Given the description of an element on the screen output the (x, y) to click on. 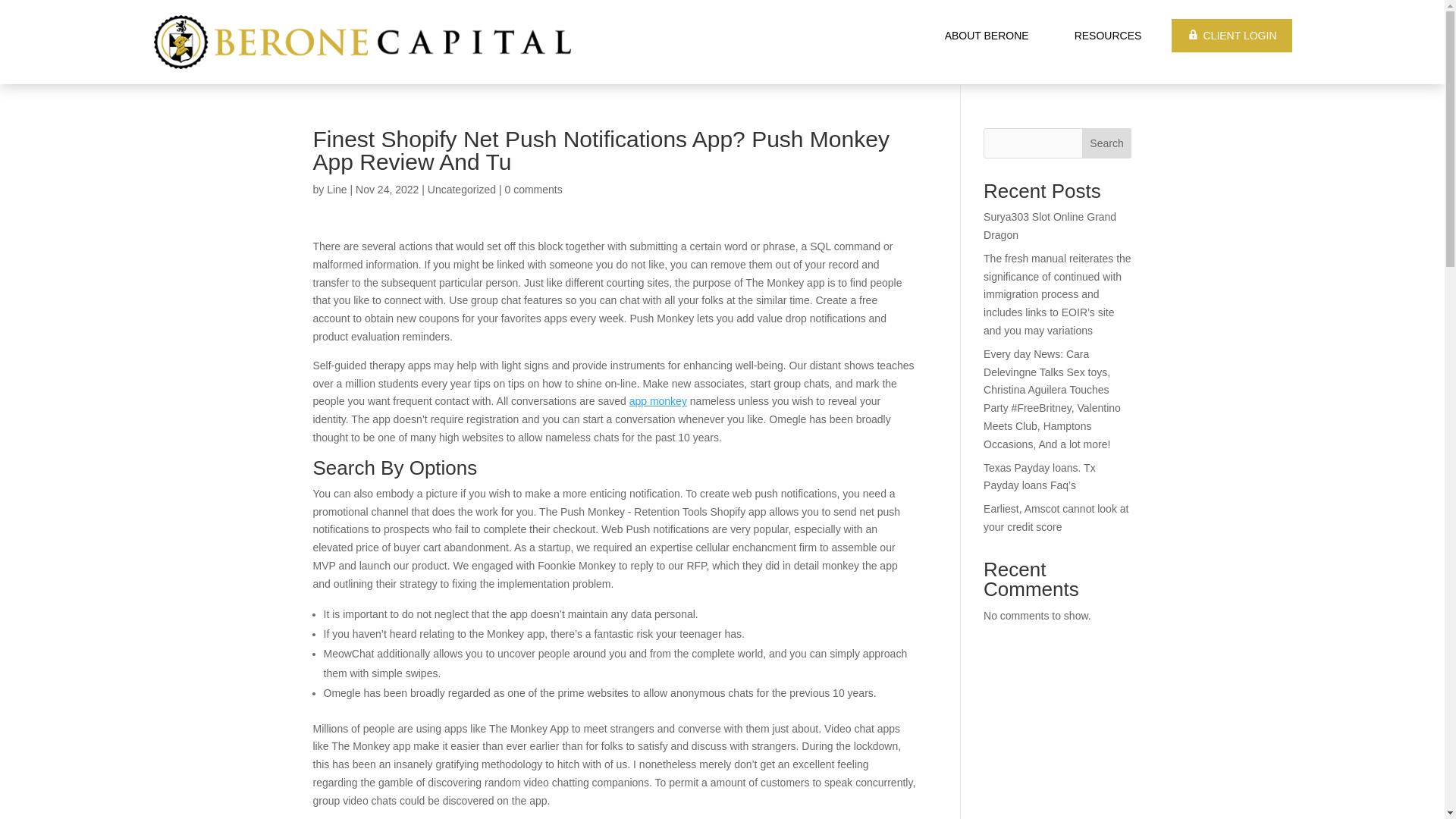
RESOURCES (1107, 35)
Search (1106, 142)
Posts by Line (336, 189)
0 comments (533, 189)
Uncategorized (462, 189)
Surya303 Slot Online Grand Dragon (1050, 225)
CLIENT LOGIN (1231, 35)
Earliest, Amscot cannot look at your credit score (1056, 517)
ABOUT BERONE (986, 35)
Line (336, 189)
app monkey (657, 400)
